Given the description of an element on the screen output the (x, y) to click on. 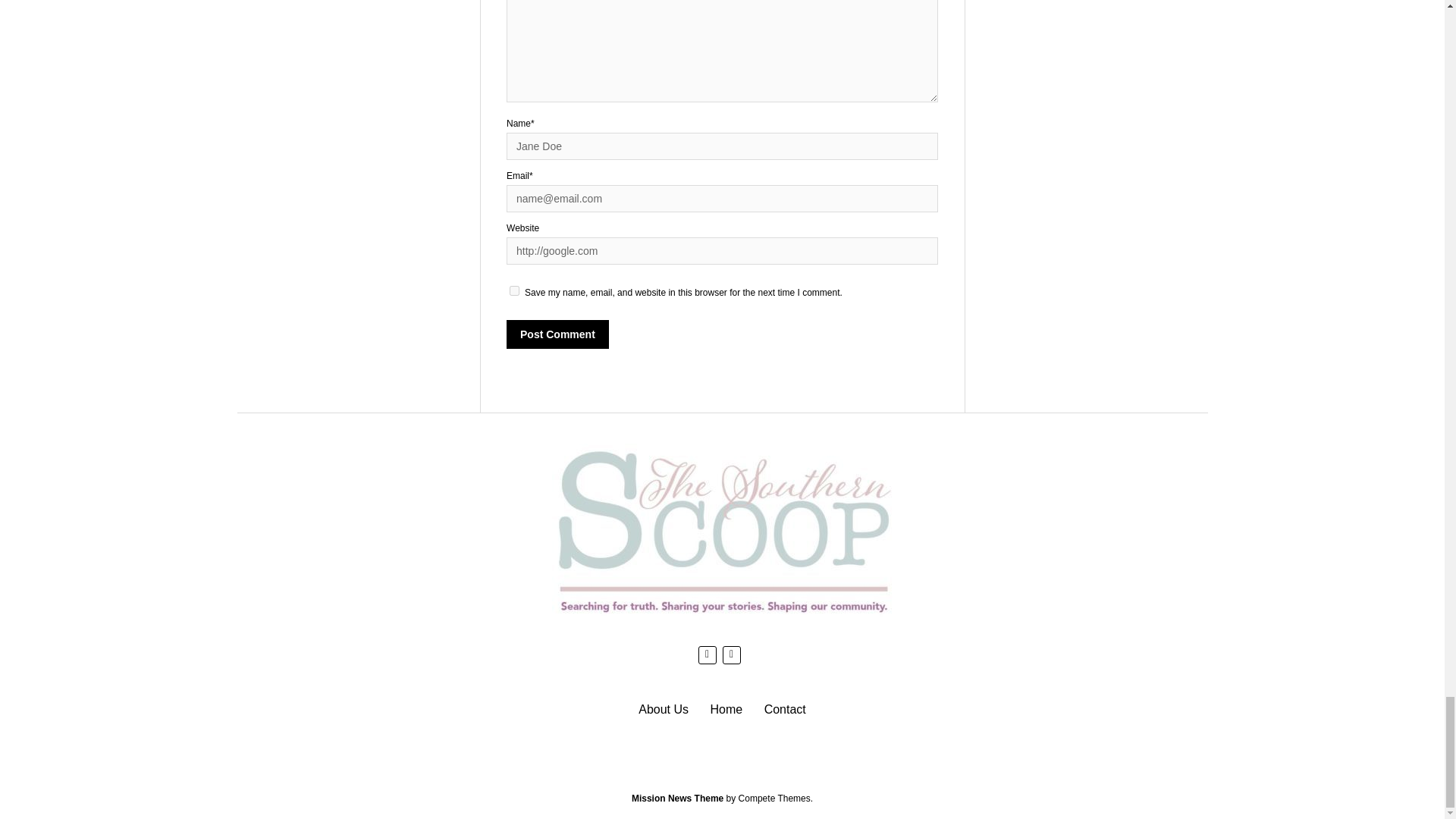
Post Comment (557, 334)
yes (514, 290)
Turning a dream into a reality (663, 708)
